Given the description of an element on the screen output the (x, y) to click on. 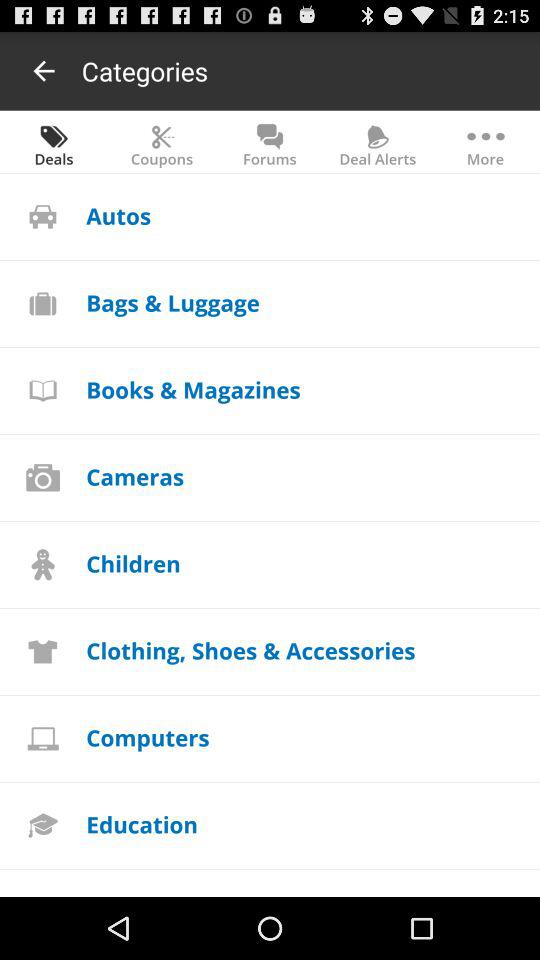
turn on the children app (133, 562)
